Given the description of an element on the screen output the (x, y) to click on. 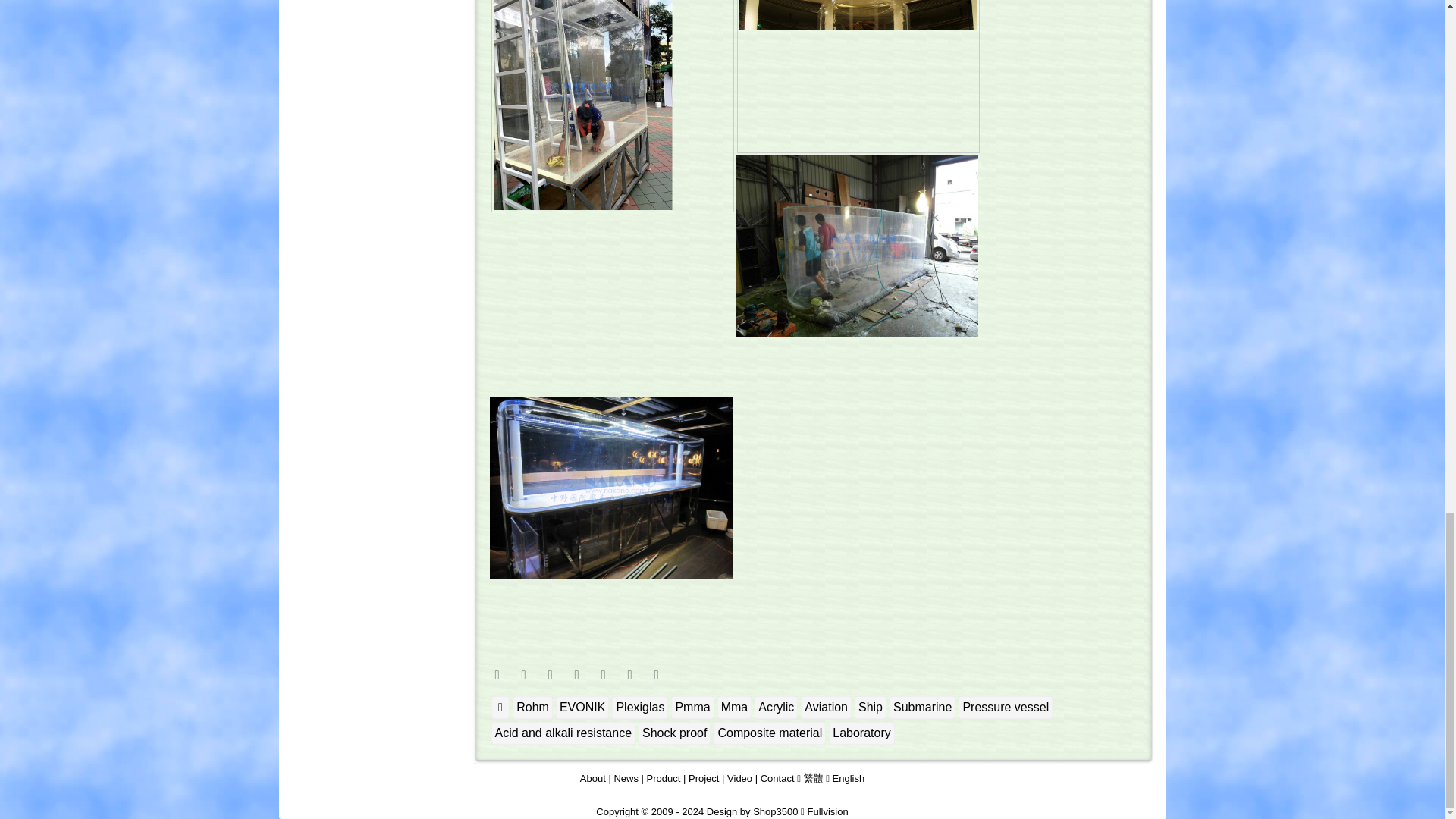
Plexiglas (639, 707)
Rohm (532, 707)
Pmma (692, 707)
EVONIK (582, 707)
